Given the description of an element on the screen output the (x, y) to click on. 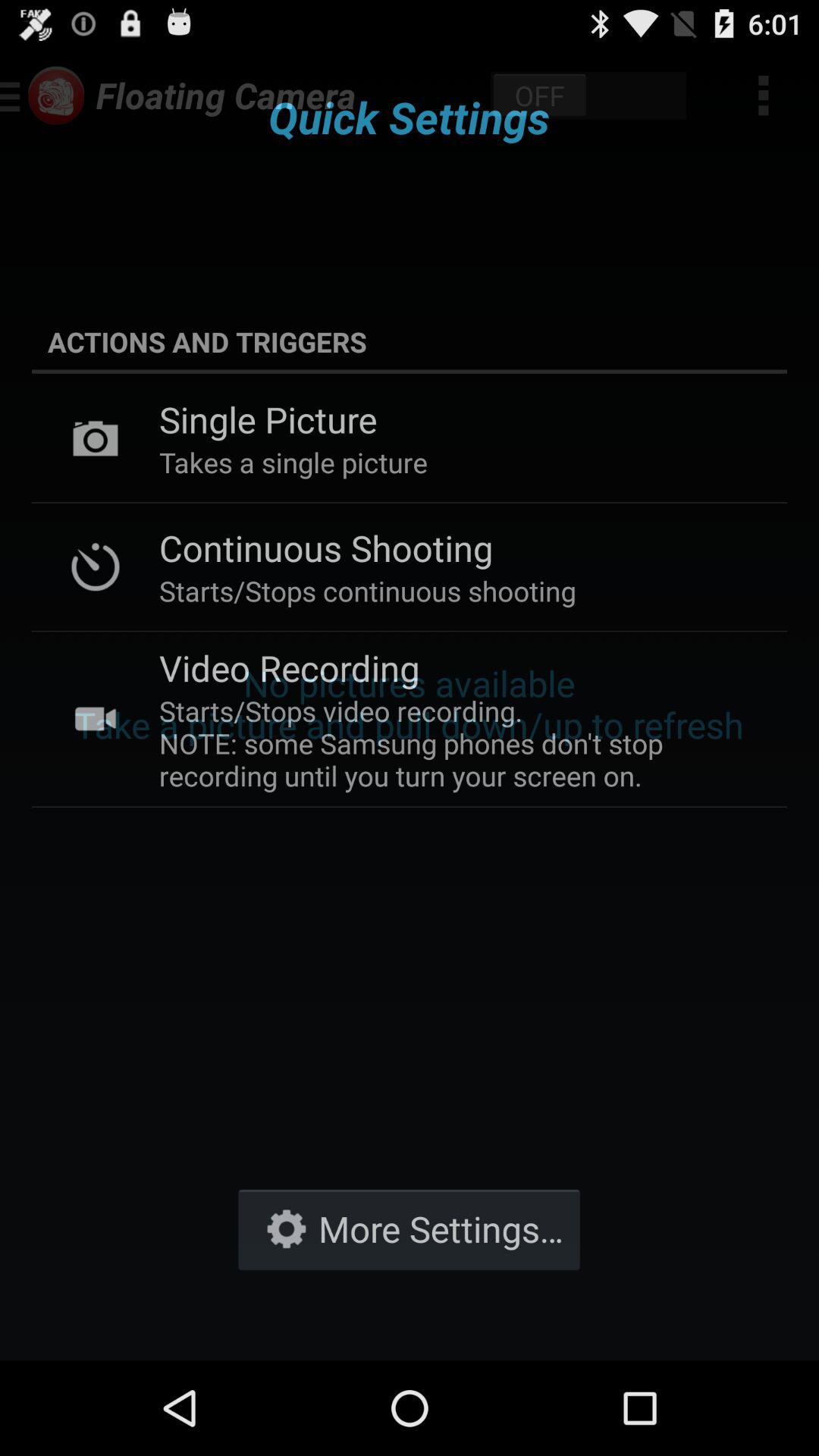
tap the actions and triggers (409, 341)
